Given the description of an element on the screen output the (x, y) to click on. 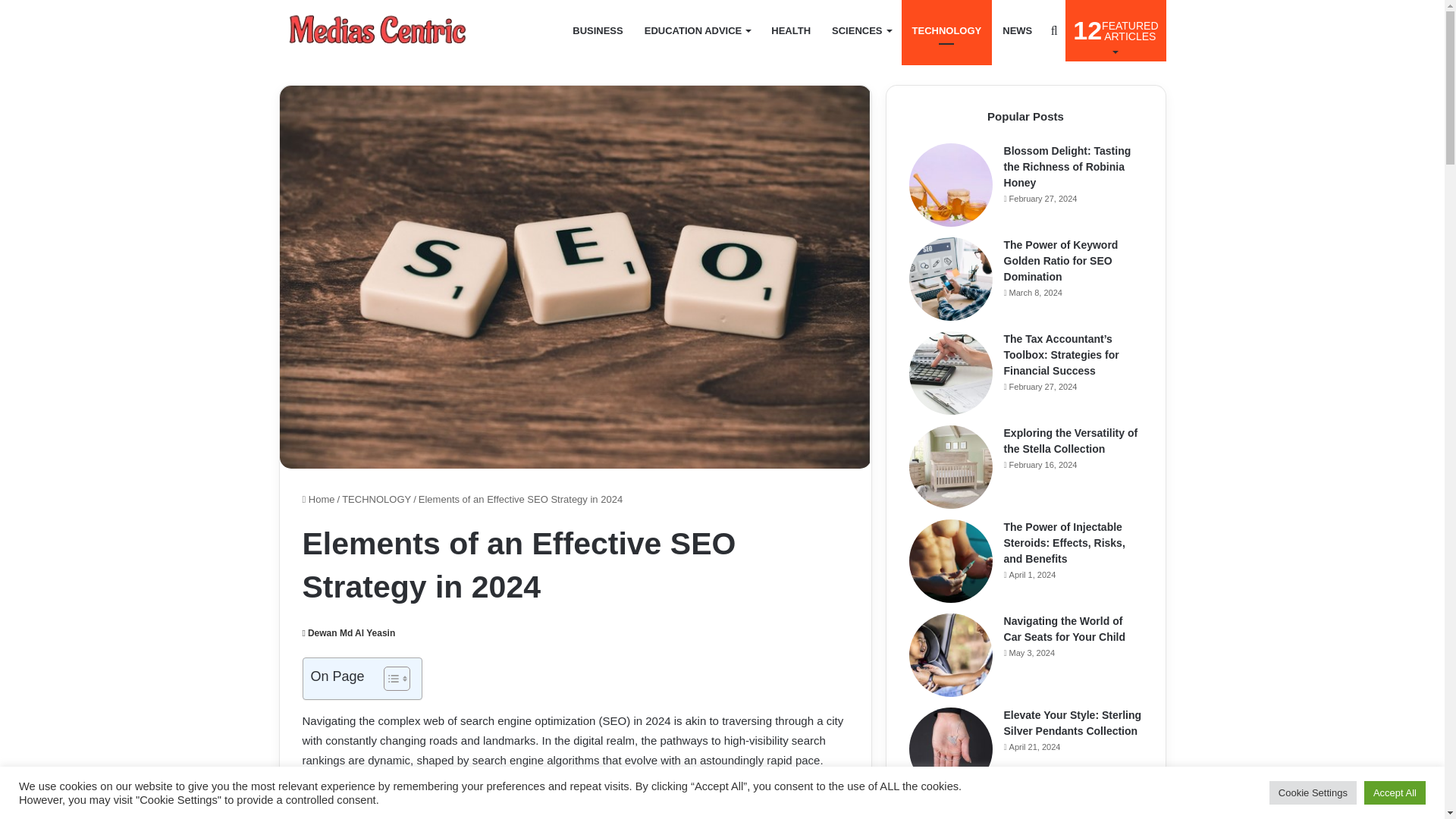
EDUCATION ADVICE (1115, 30)
Medias Centric (697, 30)
BUSINESS (377, 30)
TECHNOLOGY (597, 30)
SCIENCES (946, 30)
NEWS (861, 30)
Dewan Md Al Yeasin (1016, 30)
HEALTH (347, 633)
